Given the description of an element on the screen output the (x, y) to click on. 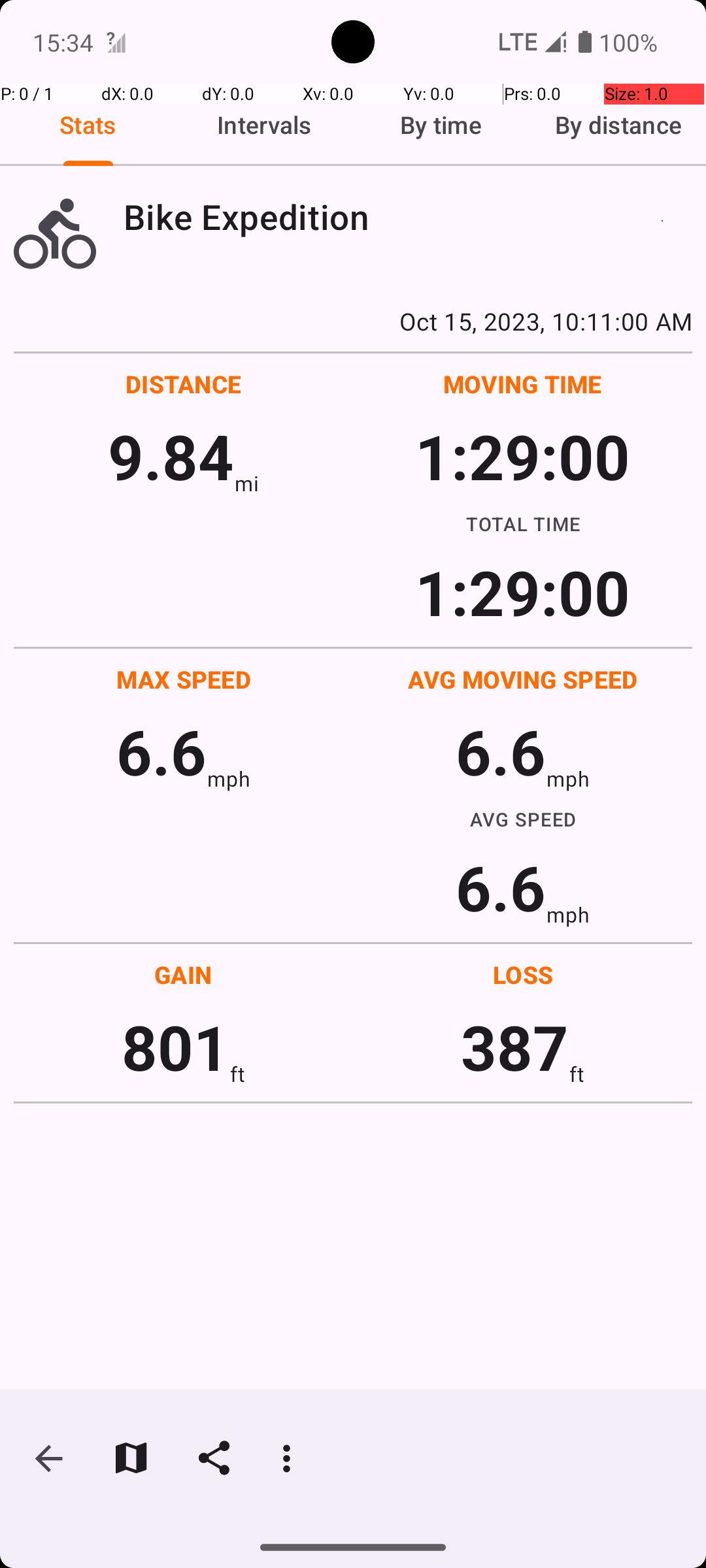
Bike Expedition Element type: android.widget.TextView (407, 216)
Oct 15, 2023, 10:11:00 AM Element type: android.widget.TextView (352, 320)
9.84 Element type: android.widget.TextView (170, 455)
1:29:00 Element type: android.widget.TextView (522, 455)
6.6 Element type: android.widget.TextView (161, 750)
801 Element type: android.widget.TextView (175, 1045)
387 Element type: android.widget.TextView (514, 1045)
